Given the description of an element on the screen output the (x, y) to click on. 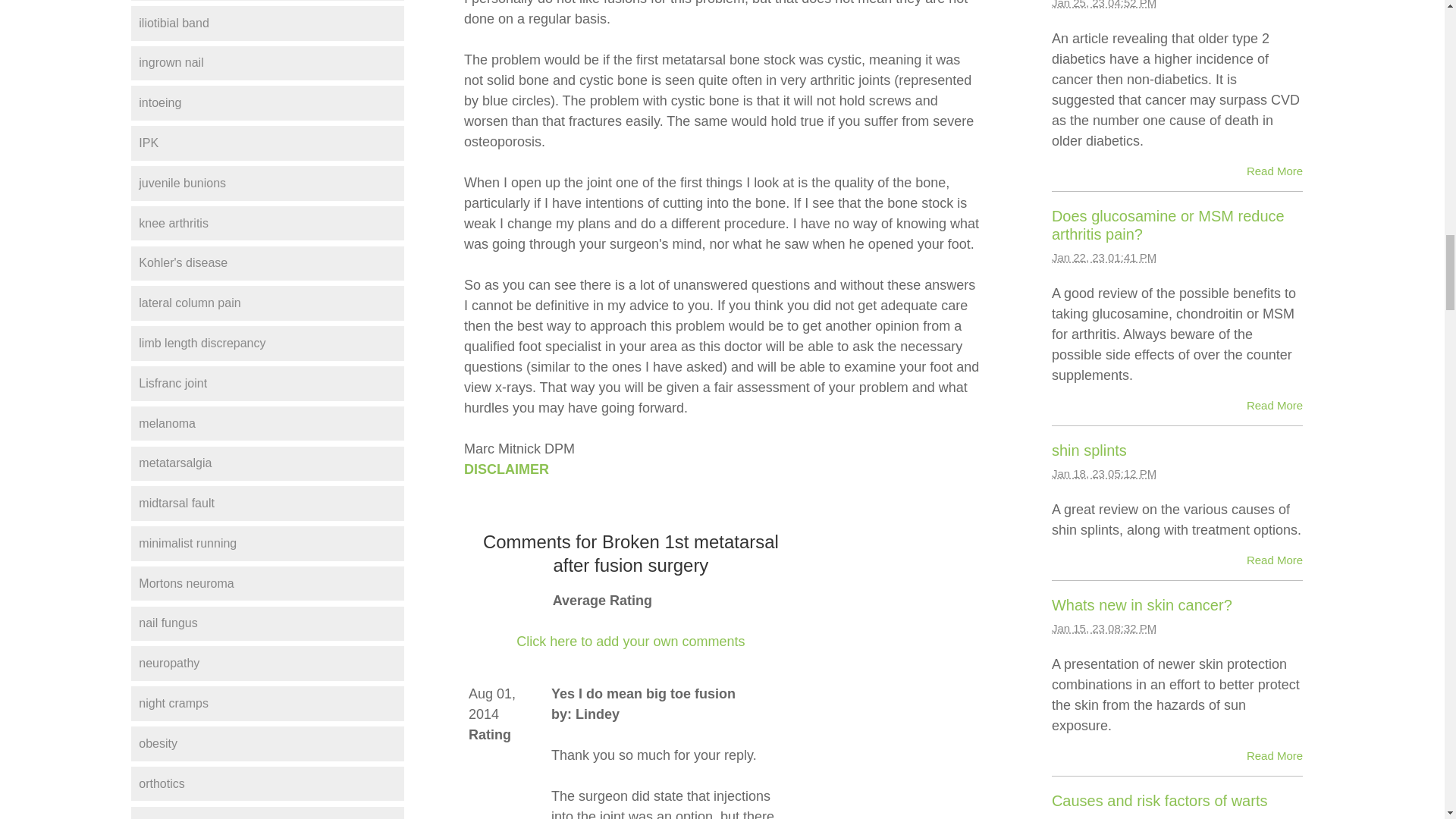
2023-01-25T16:52:22-0500 (1103, 4)
2023-01-22T13:41:39-0500 (1103, 256)
2023-01-14T17:02:21-0500 (1103, 818)
2023-01-18T17:12:39-0500 (1103, 472)
2023-01-15T20:32:37-0500 (1103, 627)
